Given the description of an element on the screen output the (x, y) to click on. 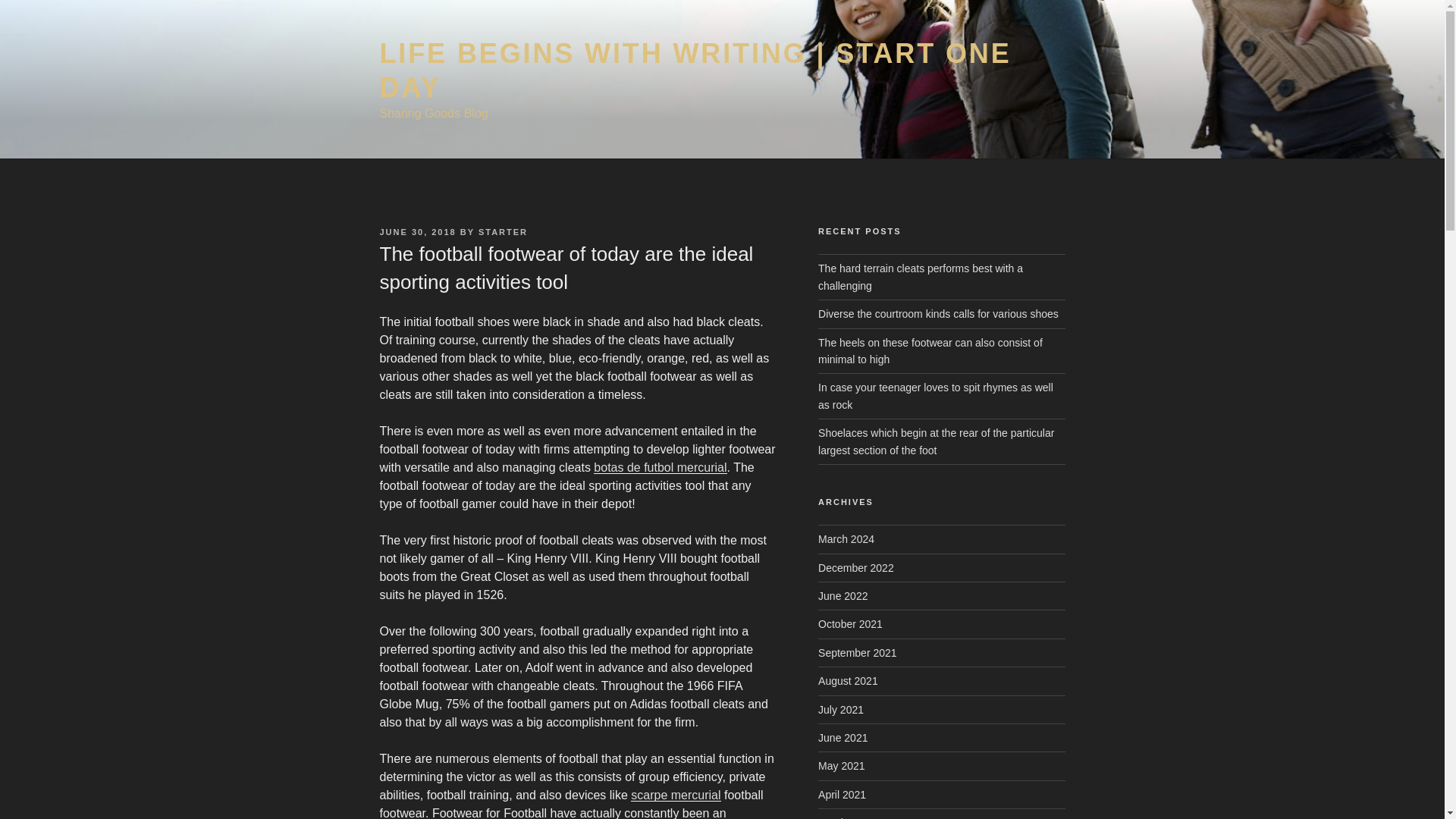
June 2022 (842, 595)
The hard terrain cleats performs best with a challenging (920, 276)
JUNE 30, 2018 (416, 231)
scarpe mercurial (675, 794)
Diverse the courtroom kinds calls for various shoes (938, 313)
December 2022 (855, 567)
In case your teenager loves to spit rhymes as well as rock (935, 395)
botas de futbol mercurial (660, 467)
August 2021 (847, 680)
STARTER (503, 231)
March 2024 (846, 539)
October 2020 (850, 817)
October 2021 (850, 623)
